Given the description of an element on the screen output the (x, y) to click on. 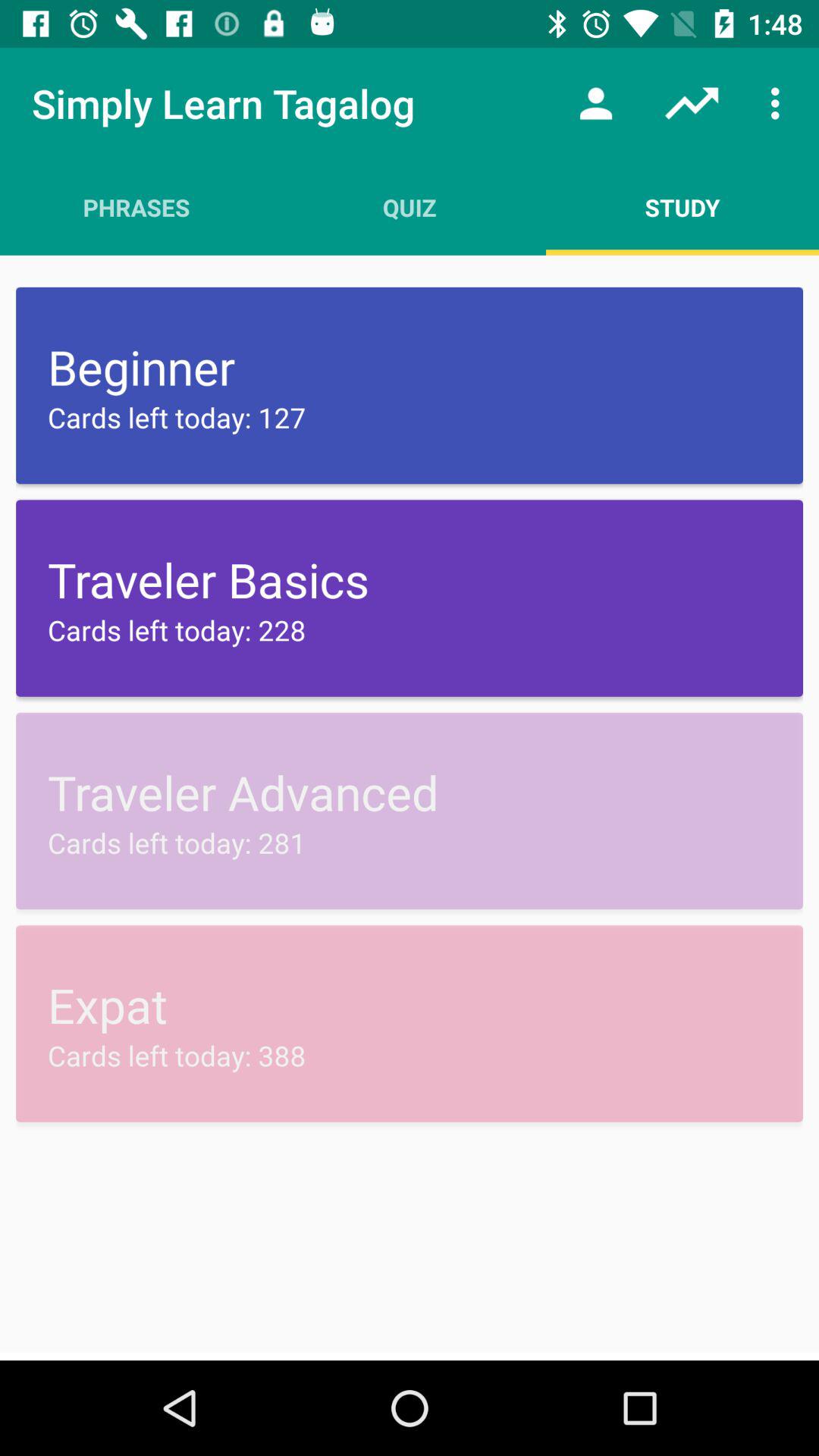
launch the quiz app (409, 207)
